Given the description of an element on the screen output the (x, y) to click on. 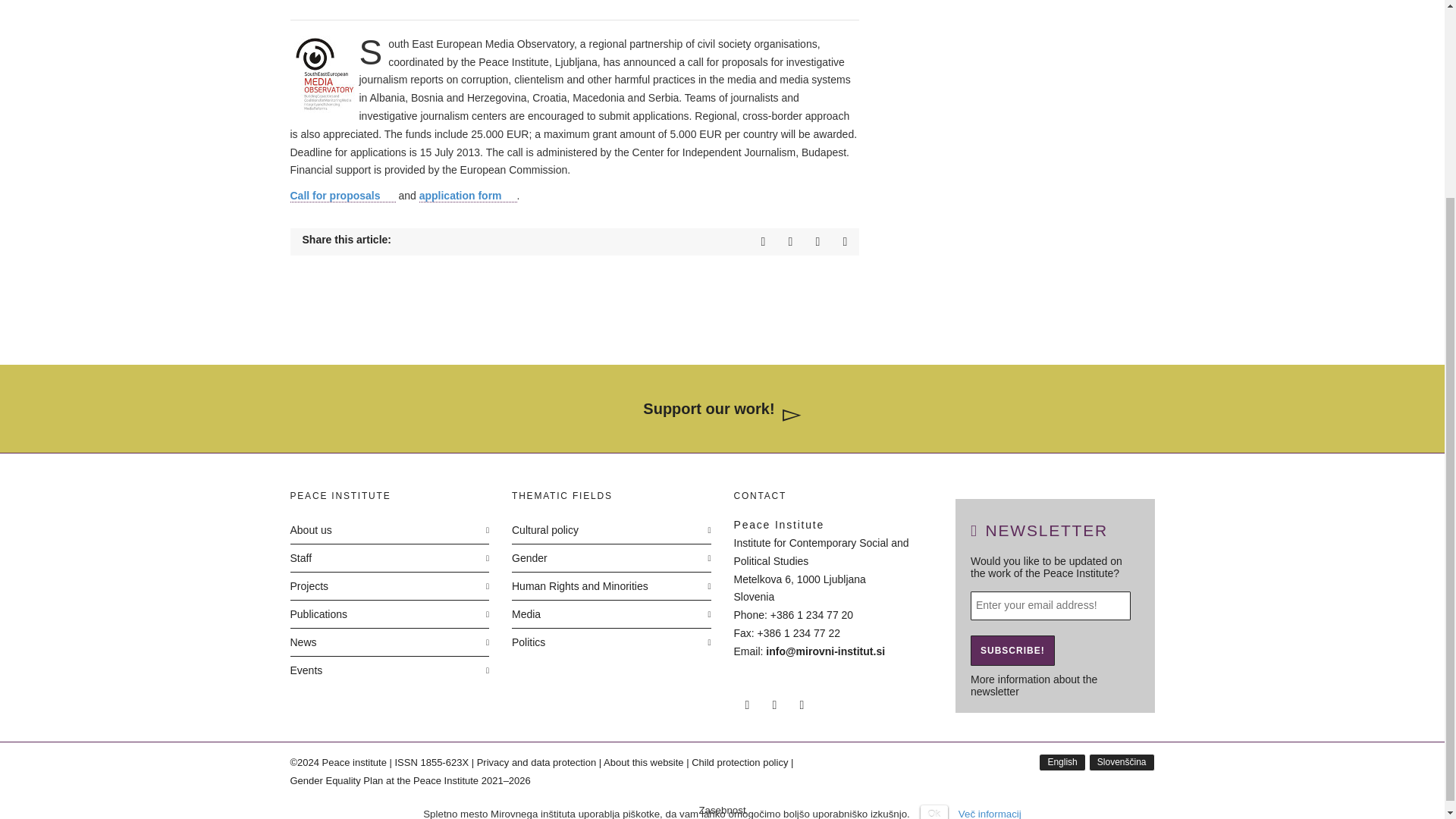
Privacy and data protection (536, 762)
About this website (644, 762)
Gender Equality Plan (416, 780)
Subscribe! (1012, 650)
Enter your email address! (1051, 605)
Child protection policy (739, 762)
